Given the description of an element on the screen output the (x, y) to click on. 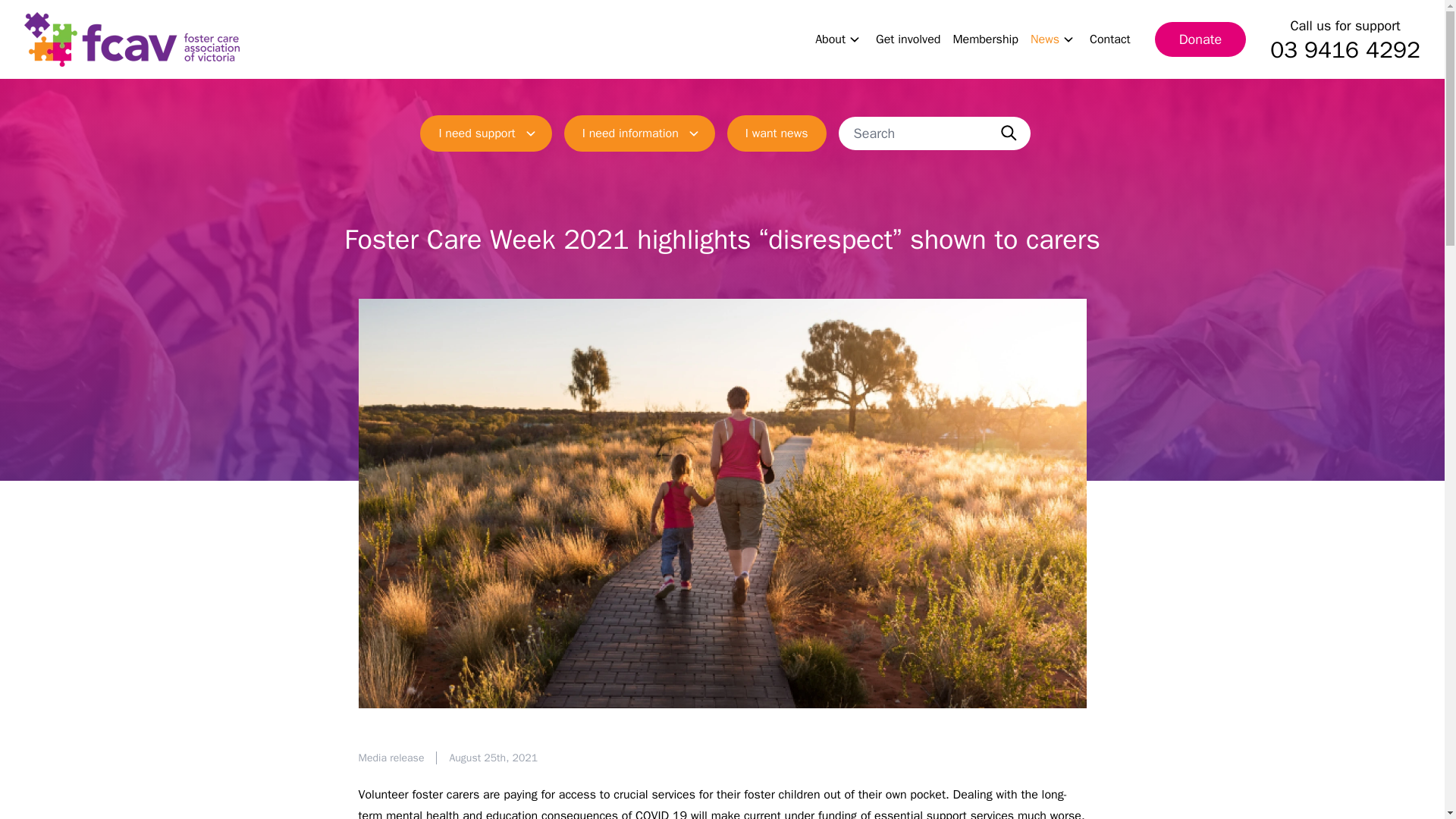
Call us (1345, 50)
